Given the description of an element on the screen output the (x, y) to click on. 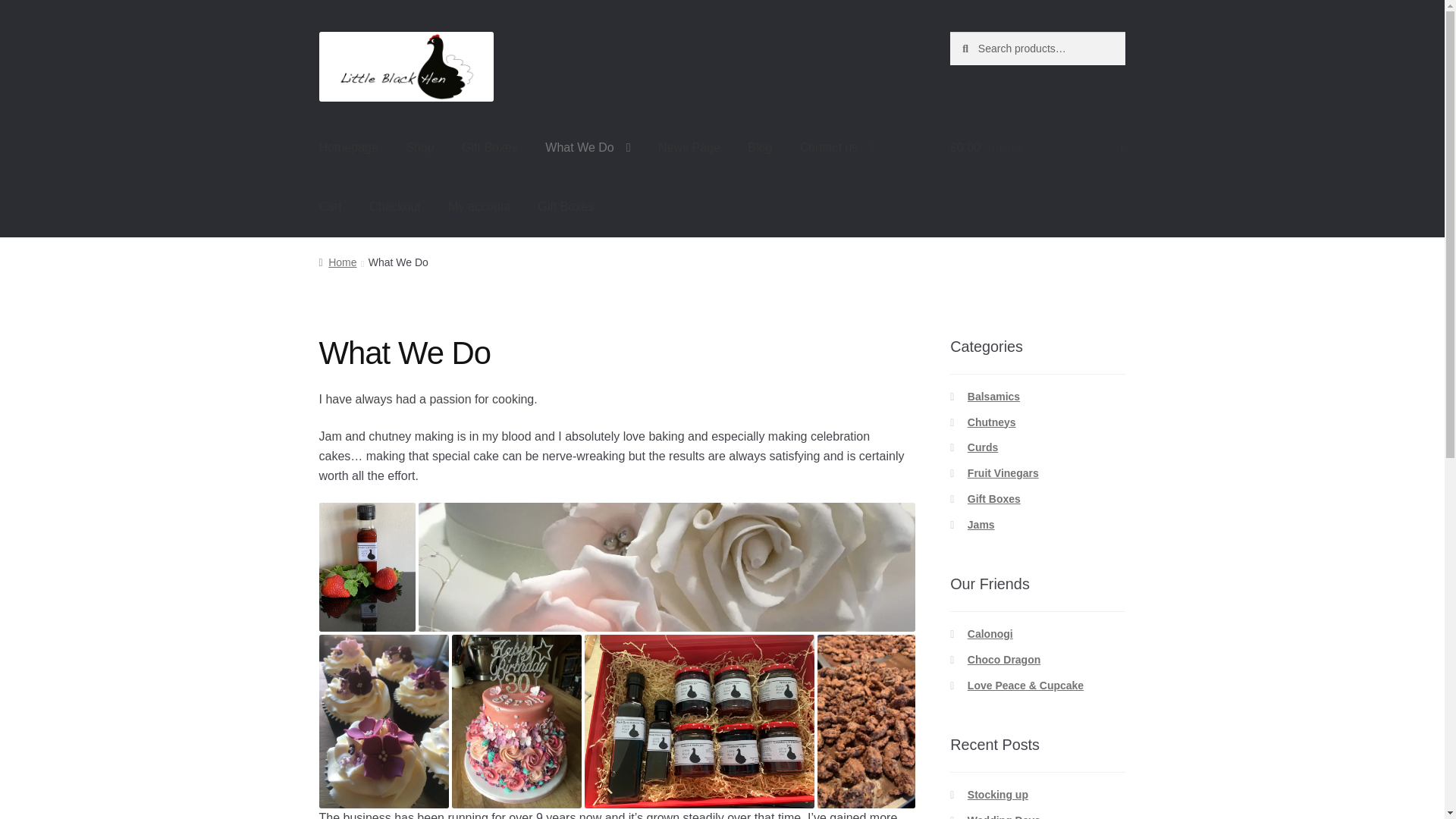
Bespoke Crafts (990, 633)
Homepage (348, 148)
Gift Boxes (566, 206)
Luxuary Chocolatein Wales (1004, 659)
What We Do (587, 148)
My account (478, 206)
View your shopping cart (1037, 148)
News Page (689, 148)
Checkout (394, 206)
Gift Boxes (489, 148)
Contact us (836, 148)
